Given the description of an element on the screen output the (x, y) to click on. 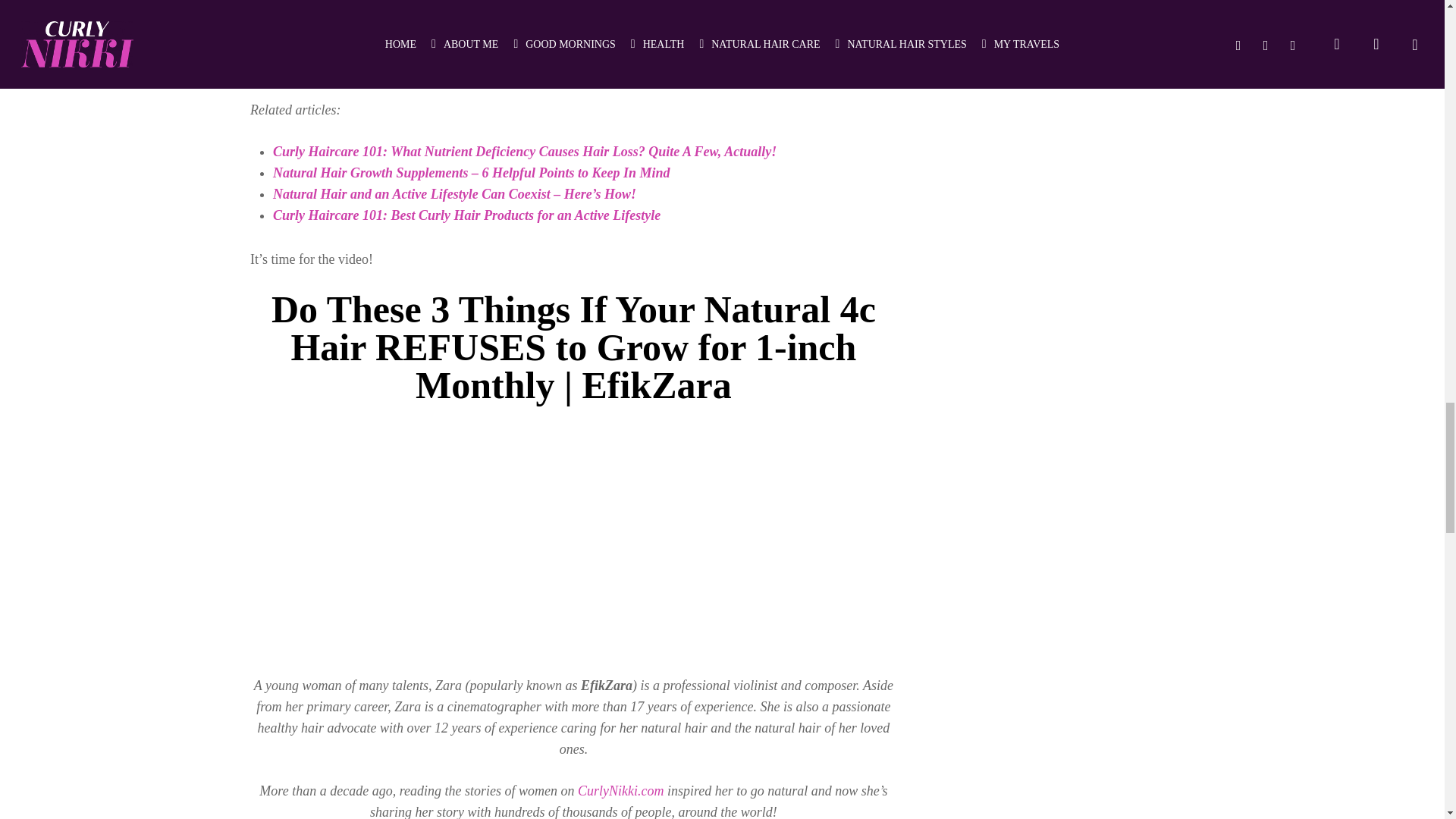
YouTube video player (573, 528)
